Given the description of an element on the screen output the (x, y) to click on. 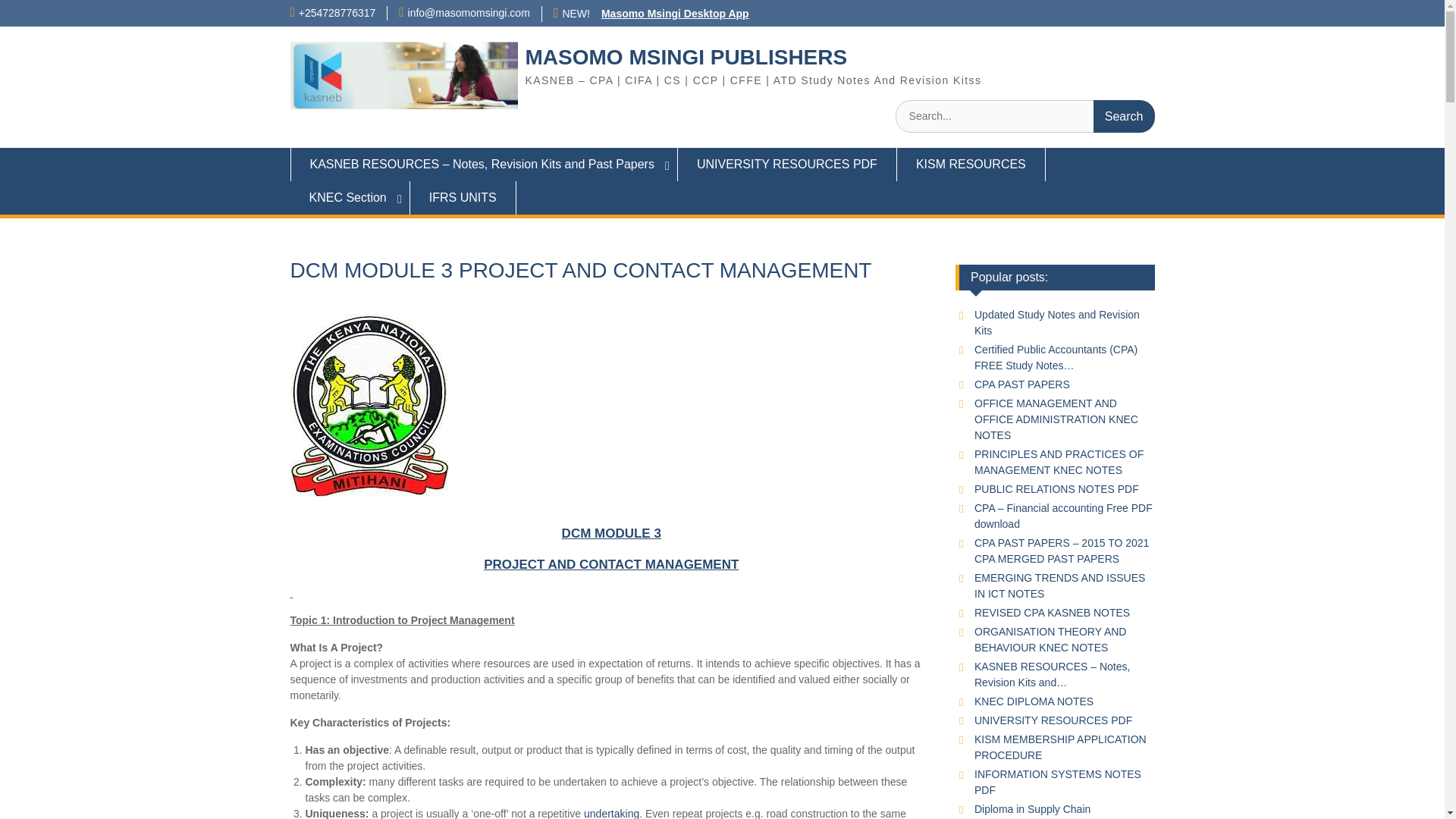
undertaking (611, 813)
MASOMO MSINGI PUBLISHERS (685, 56)
Masomo Msingi Desktop App (675, 13)
UNIVERSITY RESOURCES PDF (787, 164)
Updated Study Notes and Revision Kits (1057, 322)
IFRS UNITS (463, 197)
KISM RESOURCES (970, 164)
Search (1123, 115)
Search for: (1024, 115)
KNEC Section (349, 197)
Search (1123, 115)
Search (1123, 115)
